Given the description of an element on the screen output the (x, y) to click on. 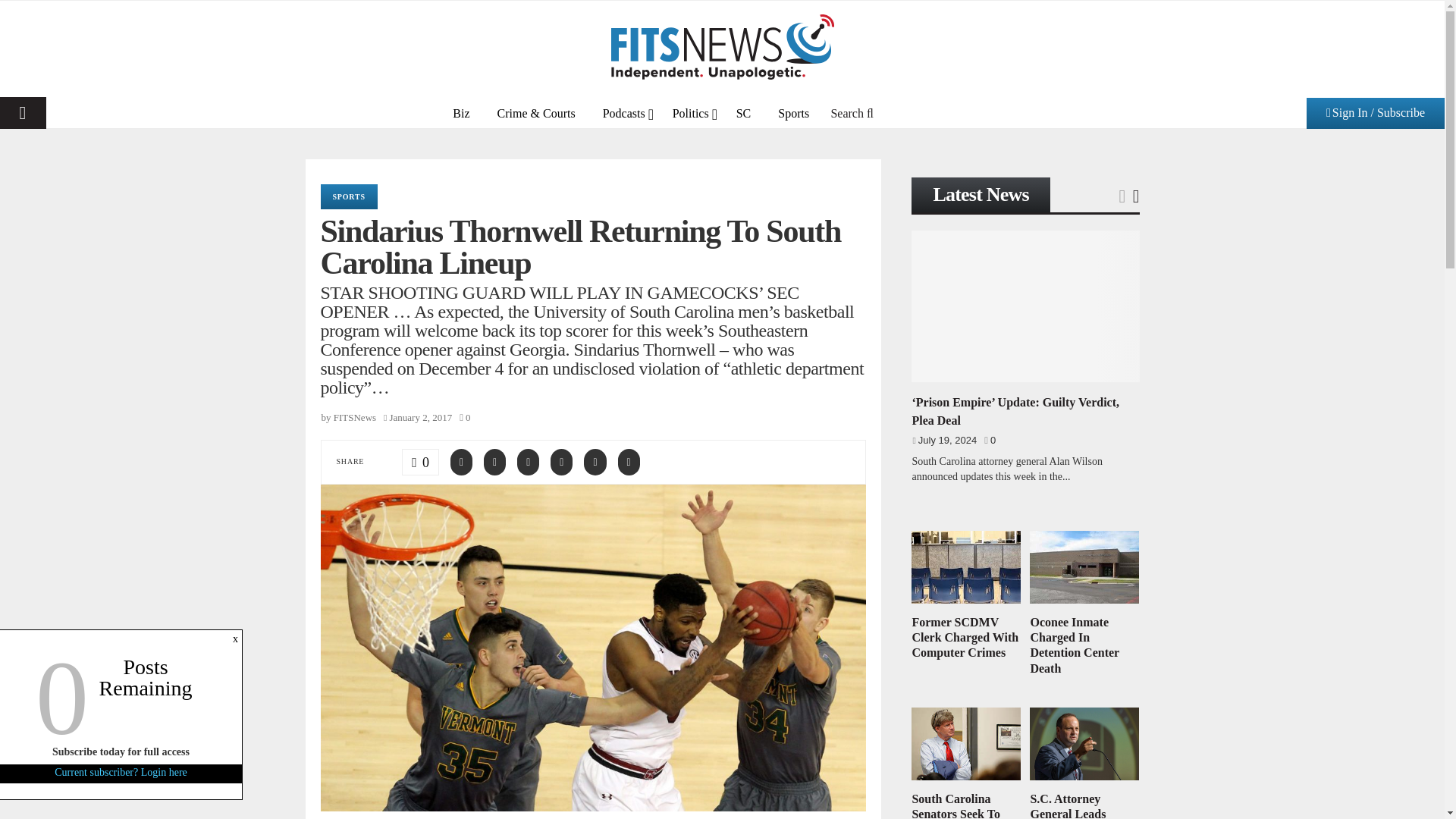
Sign up new account (722, 538)
Search (852, 112)
Like (420, 461)
PRIMARY MENU (22, 112)
Biz (461, 112)
SC (743, 112)
Podcasts (624, 112)
Sports (793, 112)
Sign up new account (722, 415)
Login to your account (722, 262)
Politics (690, 112)
